Given the description of an element on the screen output the (x, y) to click on. 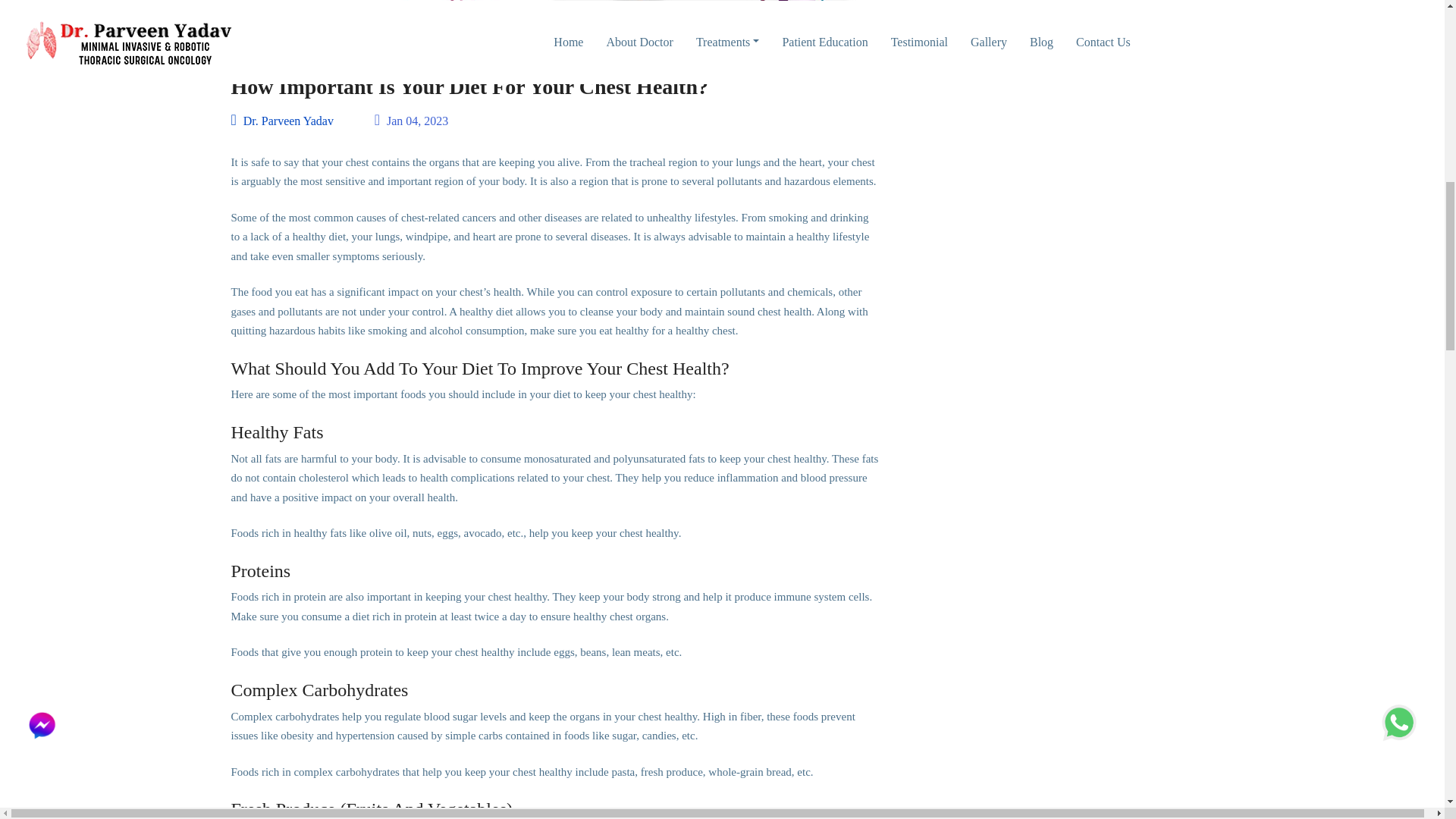
Dr. Parveen Yadav (281, 121)
